Given the description of an element on the screen output the (x, y) to click on. 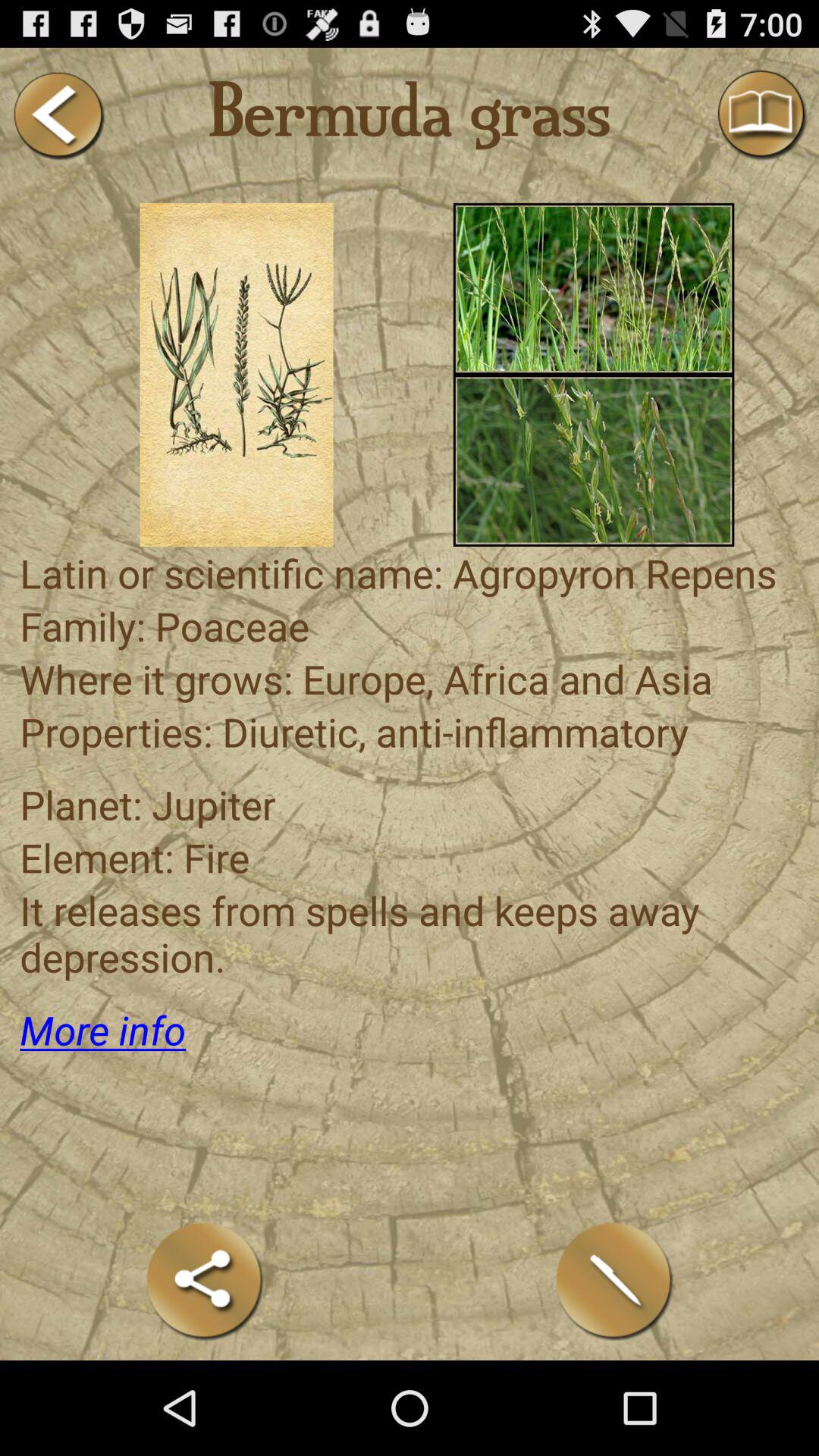
share the page (204, 1280)
